Given the description of an element on the screen output the (x, y) to click on. 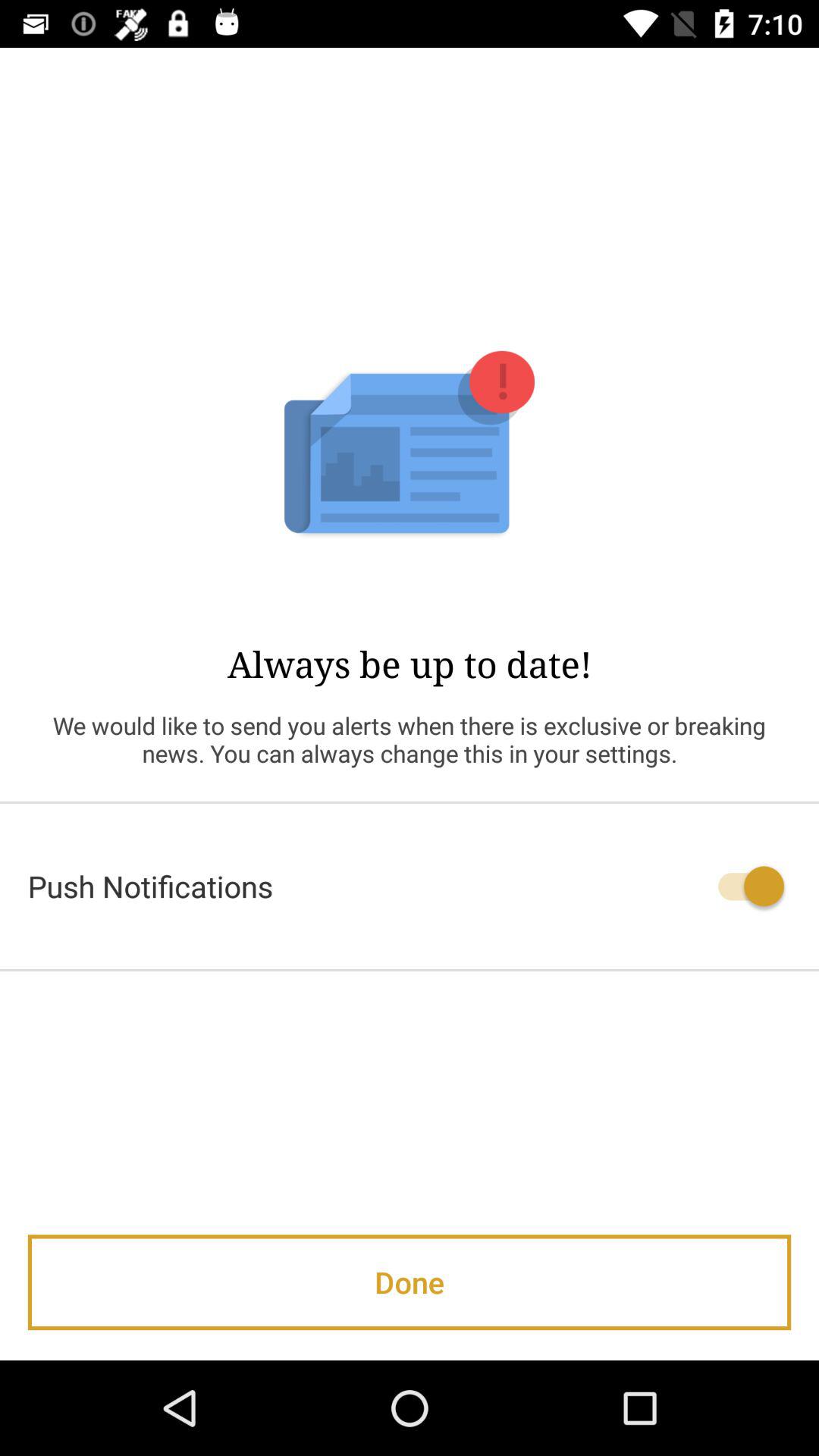
swipe until push notifications (409, 886)
